Given the description of an element on the screen output the (x, y) to click on. 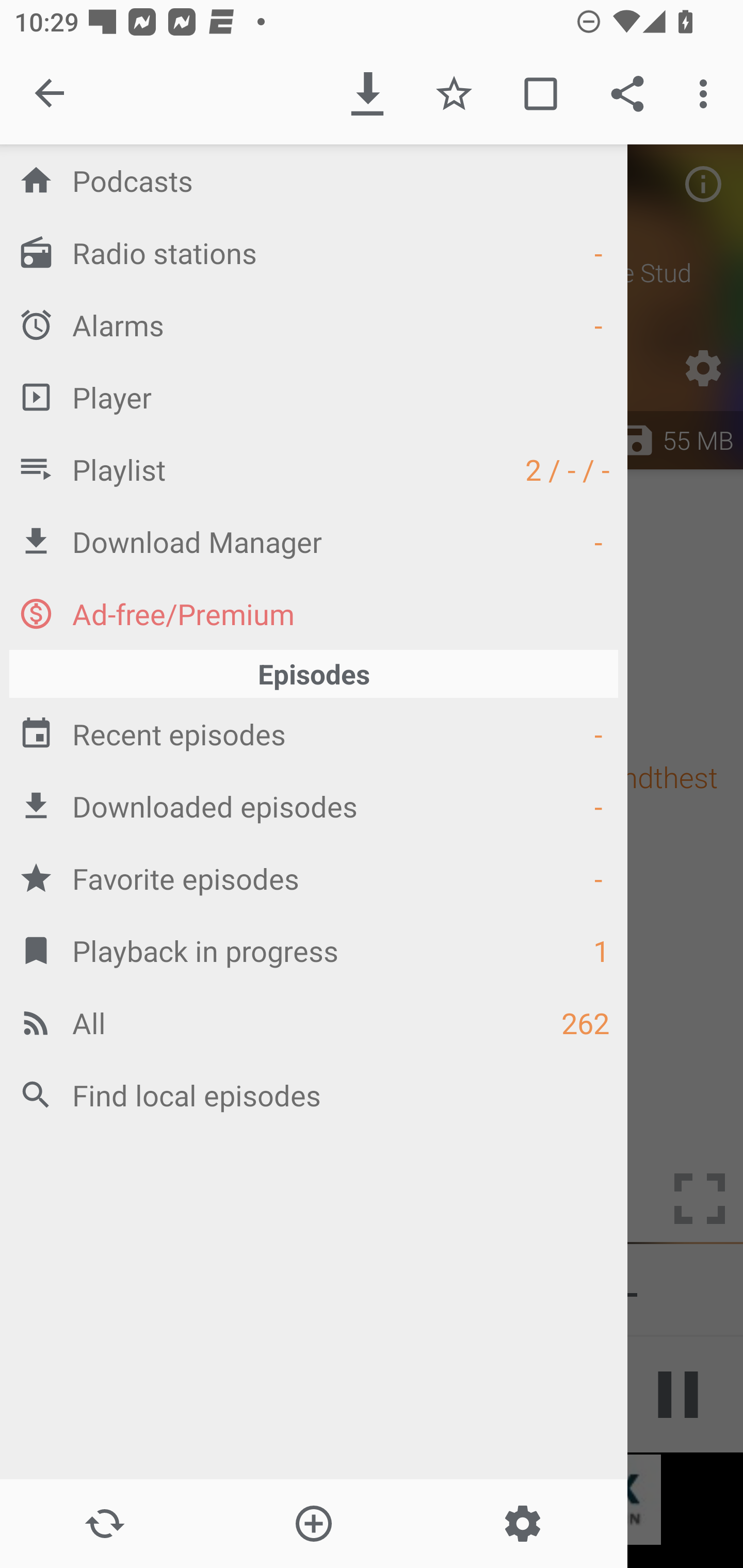
Close navigation sidebar (50, 93)
Download (366, 93)
Favorite (453, 93)
Mark played / unplayed (540, 93)
Share (626, 93)
More options (706, 93)
Podcasts (313, 180)
Radio stations  -  (313, 252)
Alarms  -  (313, 324)
Player (313, 396)
Playlist 2 / - / - (313, 468)
Download Manager  -  (313, 540)
Ad-free/Premium (313, 613)
Recent episodes  -  (313, 733)
Downloaded episodes  -  (313, 805)
Favorite episodes  -  (313, 878)
Playback in progress 1 (313, 950)
All 262 (313, 1022)
Find local episodes (313, 1094)
Play / Pause (677, 1394)
app-monetization (371, 1500)
Update (104, 1523)
Add new Podcast (312, 1523)
Settings (522, 1523)
